Given the description of an element on the screen output the (x, y) to click on. 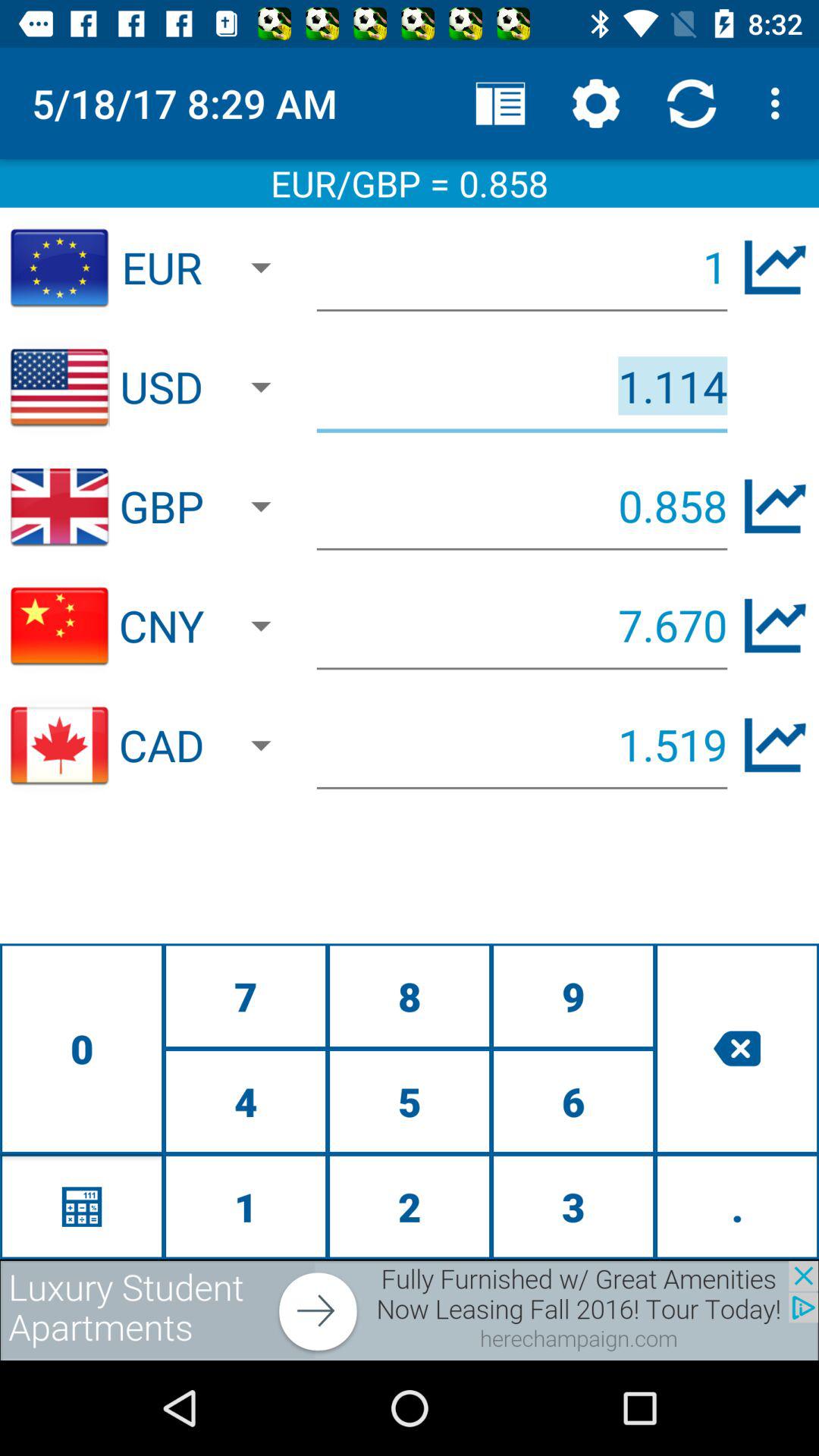
go to advertisement (409, 1310)
